Given the description of an element on the screen output the (x, y) to click on. 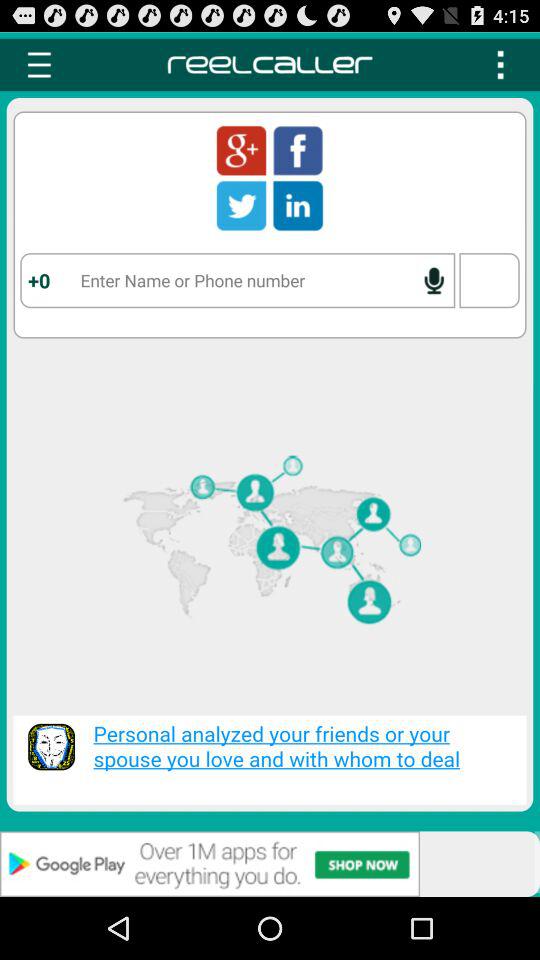
go to settings (39, 64)
